Given the description of an element on the screen output the (x, y) to click on. 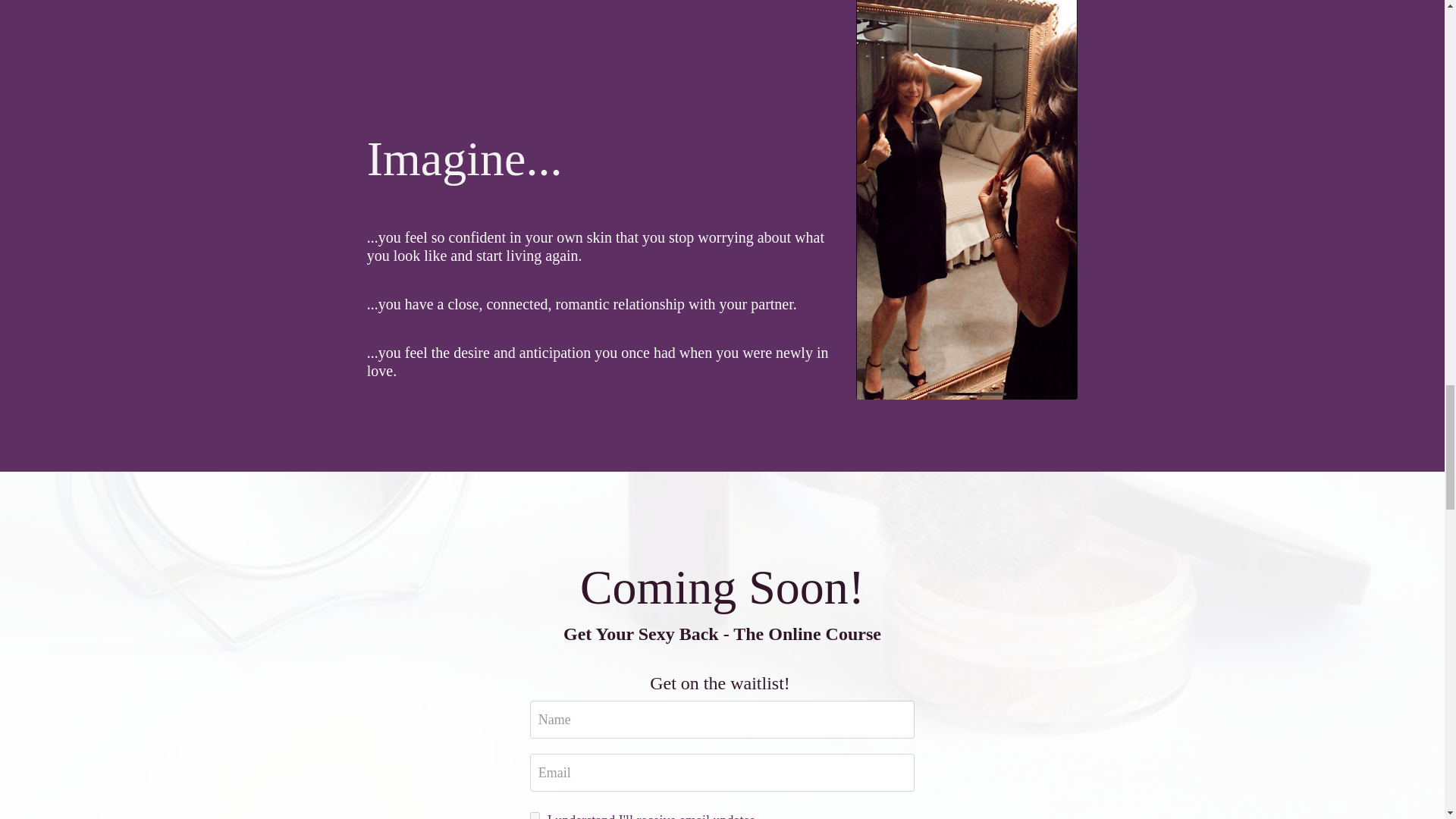
1 (534, 815)
